Given the description of an element on the screen output the (x, y) to click on. 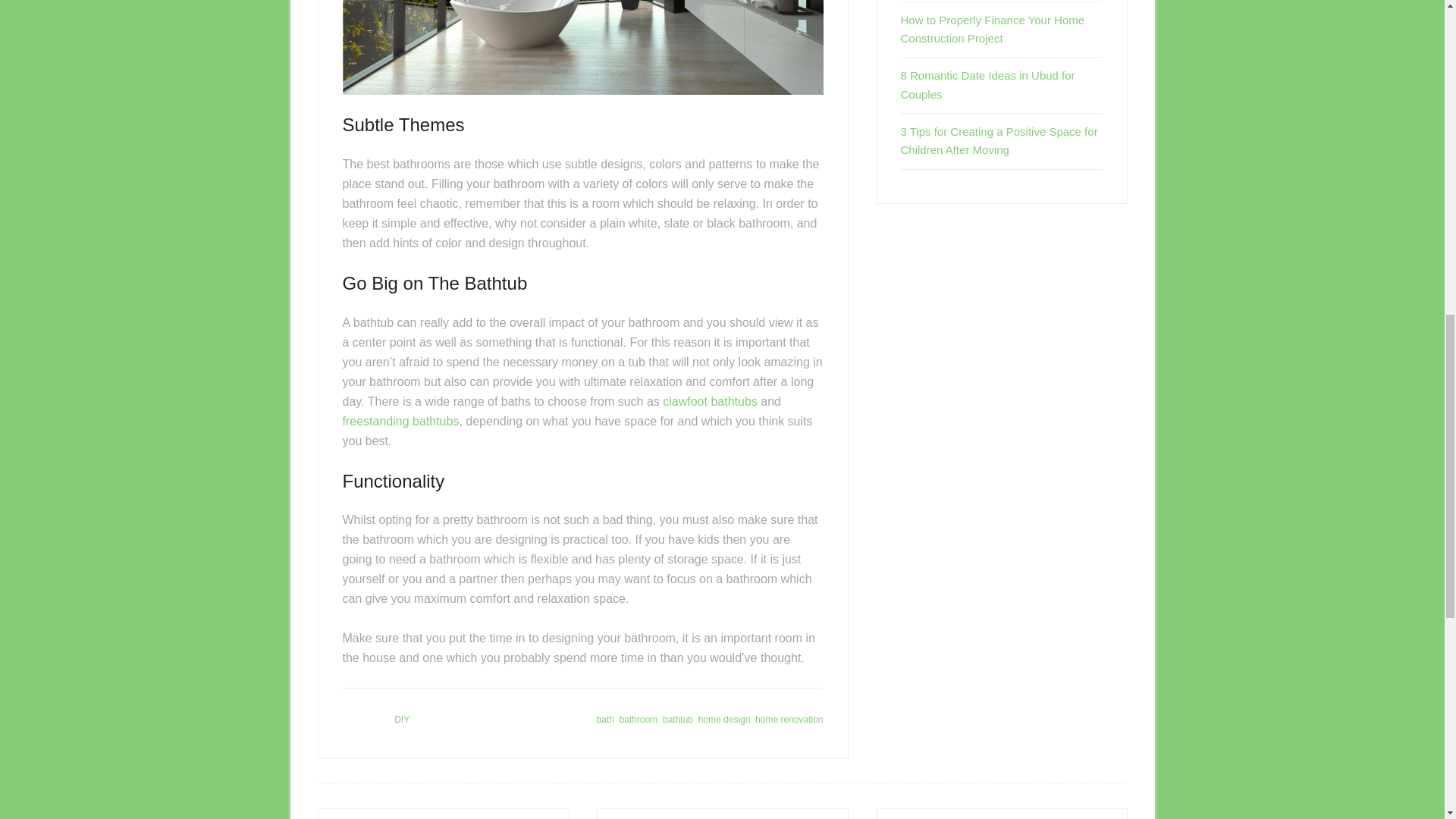
freestanding bathtubs (401, 420)
DIY (401, 719)
clawfoot bathtubs (709, 400)
home design (724, 719)
8 Romantic Date Ideas in Ubud for Couples (988, 83)
home renovation (788, 719)
bath (605, 719)
How to Properly Finance Your Home Construction Project (992, 29)
bathtub (677, 719)
